Given the description of an element on the screen output the (x, y) to click on. 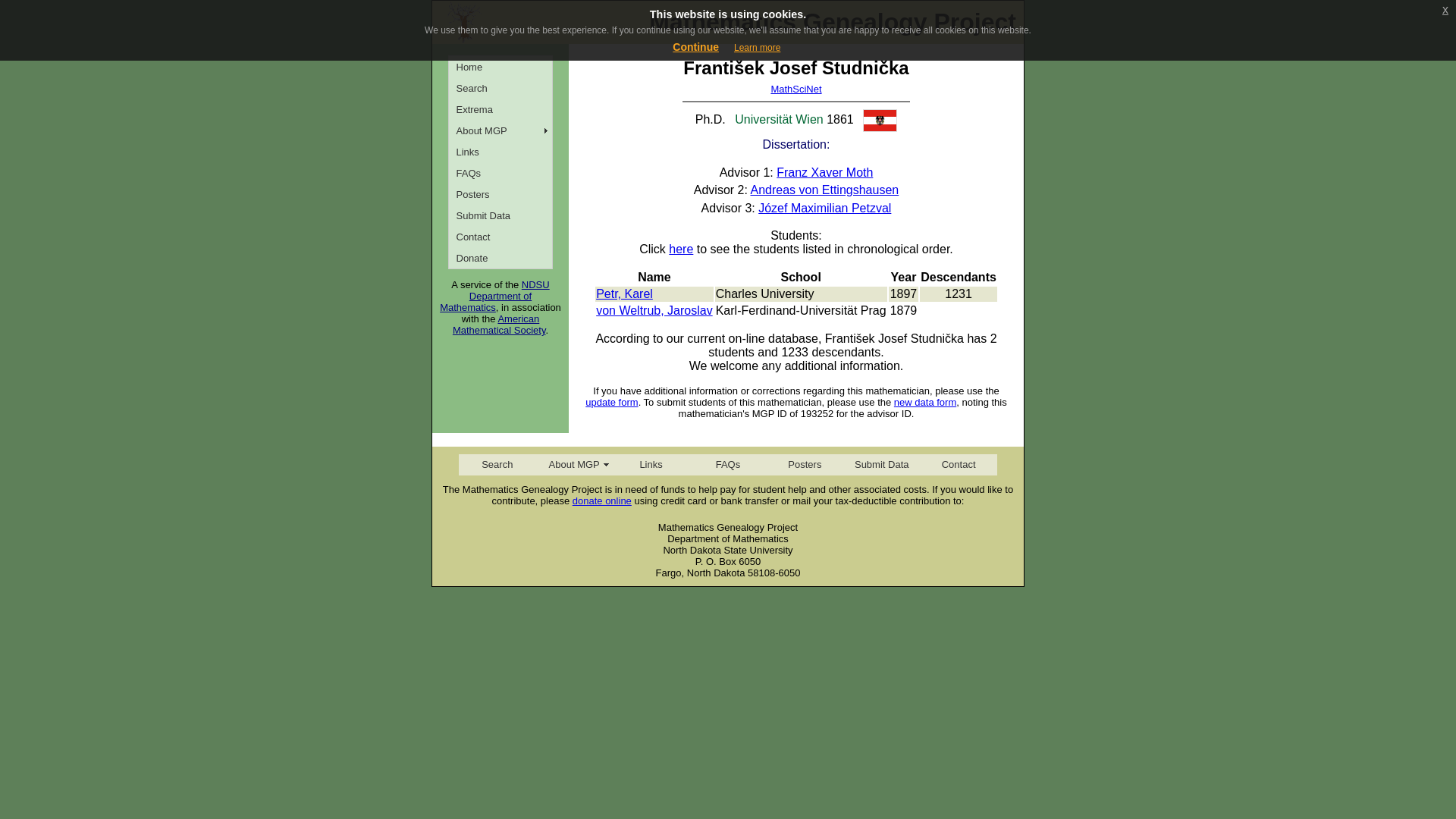
Links (500, 151)
Posters (805, 464)
Search (496, 464)
update form (611, 401)
Extrema (500, 108)
Franz Xaver Moth (824, 172)
Department of Mathematics (485, 301)
FAQs (726, 464)
FAQs (500, 172)
here (680, 248)
